Given the description of an element on the screen output the (x, y) to click on. 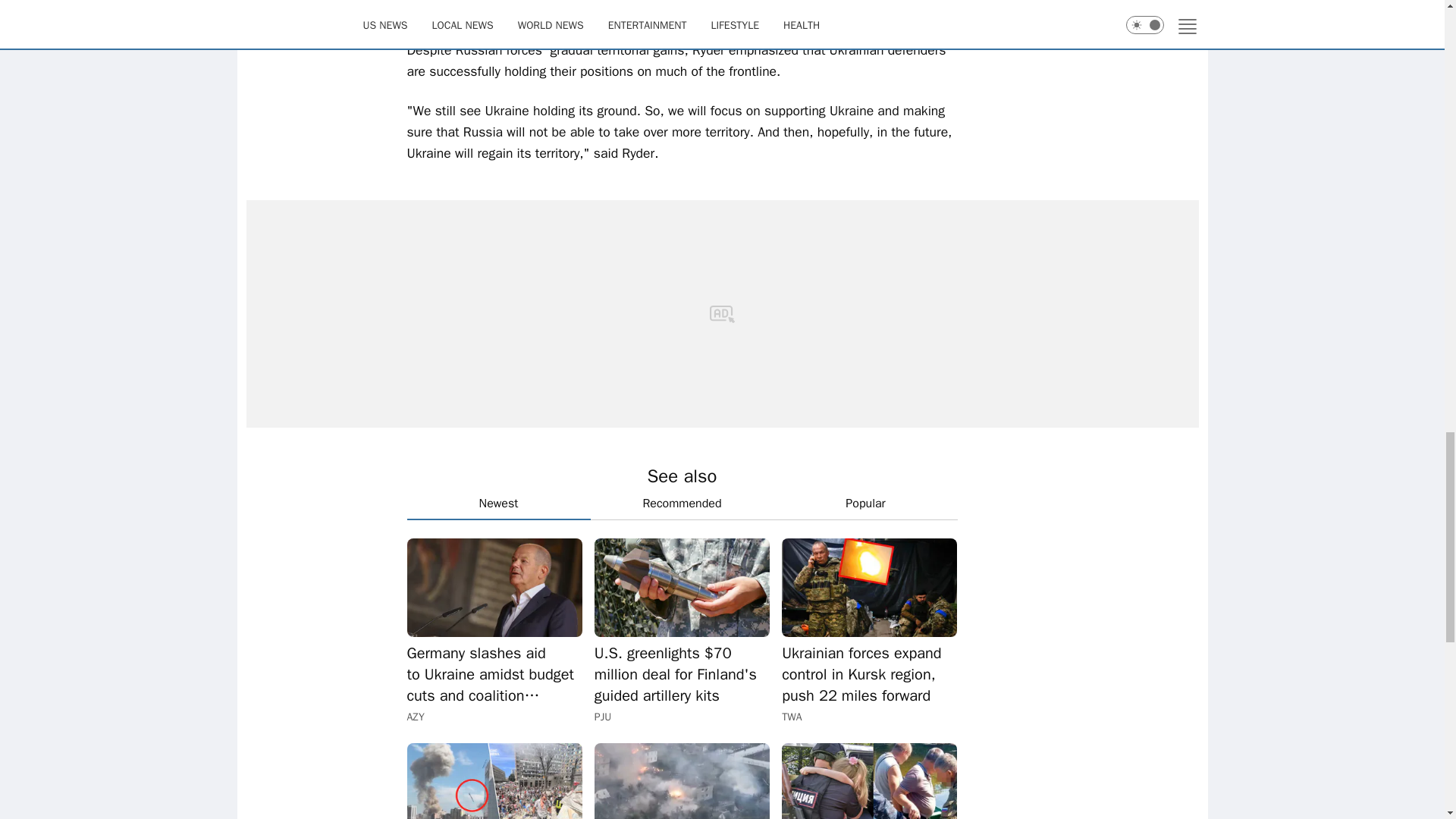
Recommended (681, 503)
Newest (497, 504)
Ukrainian forces advance in Kursk with German Marder IFVs (682, 780)
